Given the description of an element on the screen output the (x, y) to click on. 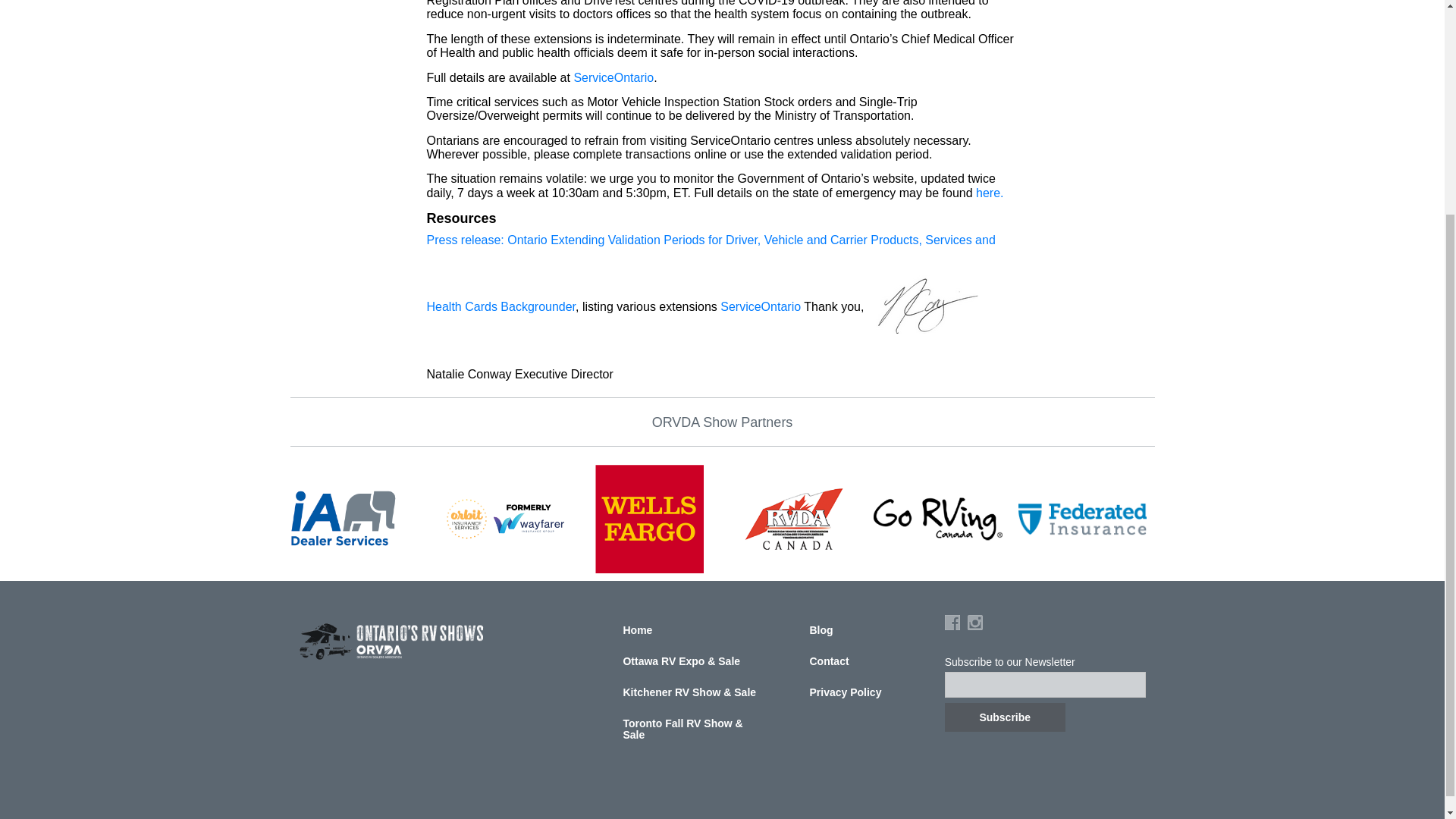
here. (988, 192)
Subscribe (1004, 717)
ServiceOntario (760, 306)
ServiceOntario (613, 77)
Backgrounder (537, 306)
